Given the description of an element on the screen output the (x, y) to click on. 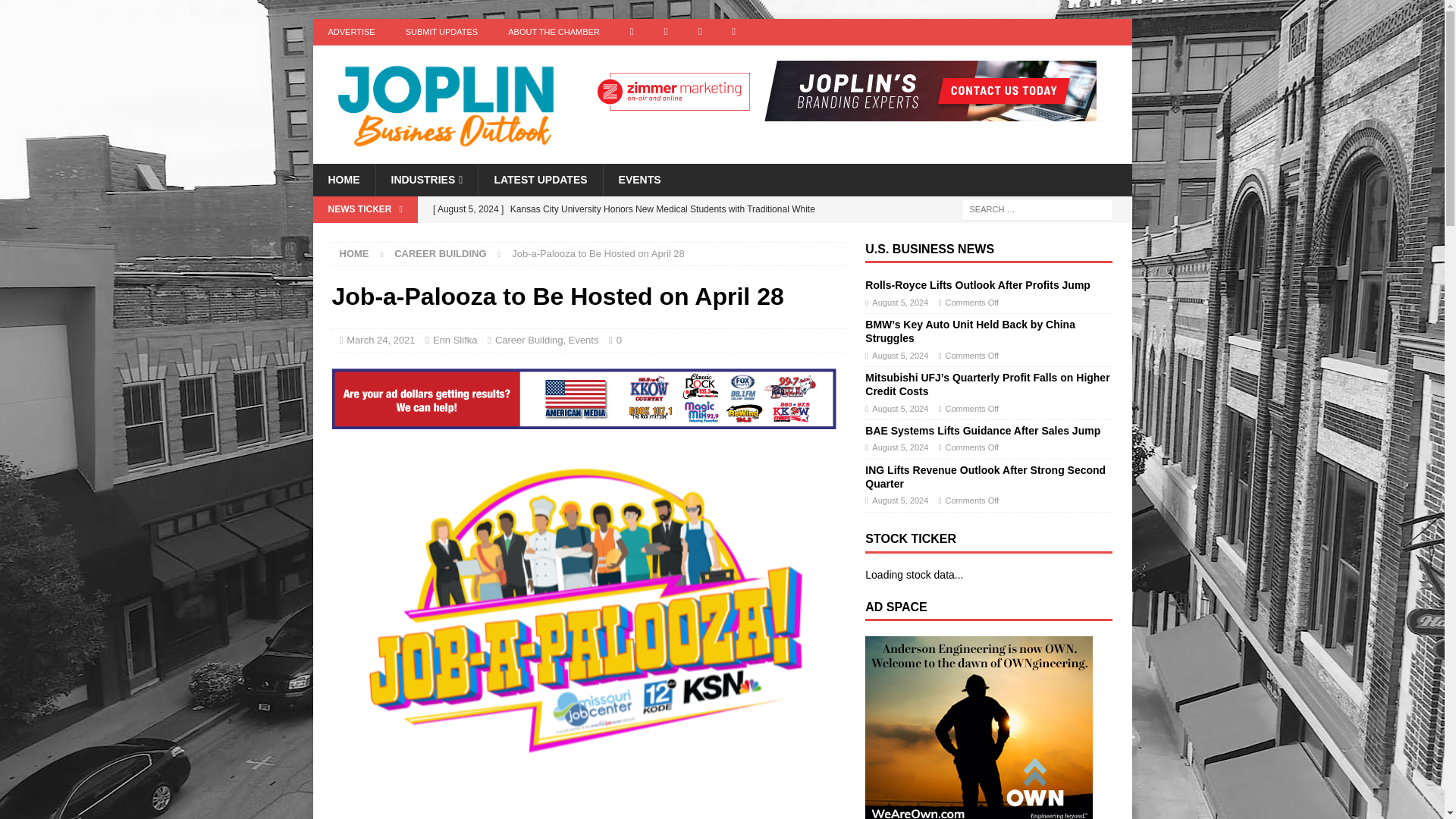
Career Building (440, 253)
LINKEDIN (733, 31)
FACEBOOK (631, 31)
Home (354, 253)
TWITTER (699, 31)
SUBMIT UPDATES (441, 31)
ABOUT THE CHAMBER (553, 31)
INSTAGRAM (665, 31)
ADVERTISE (351, 31)
